Given the description of an element on the screen output the (x, y) to click on. 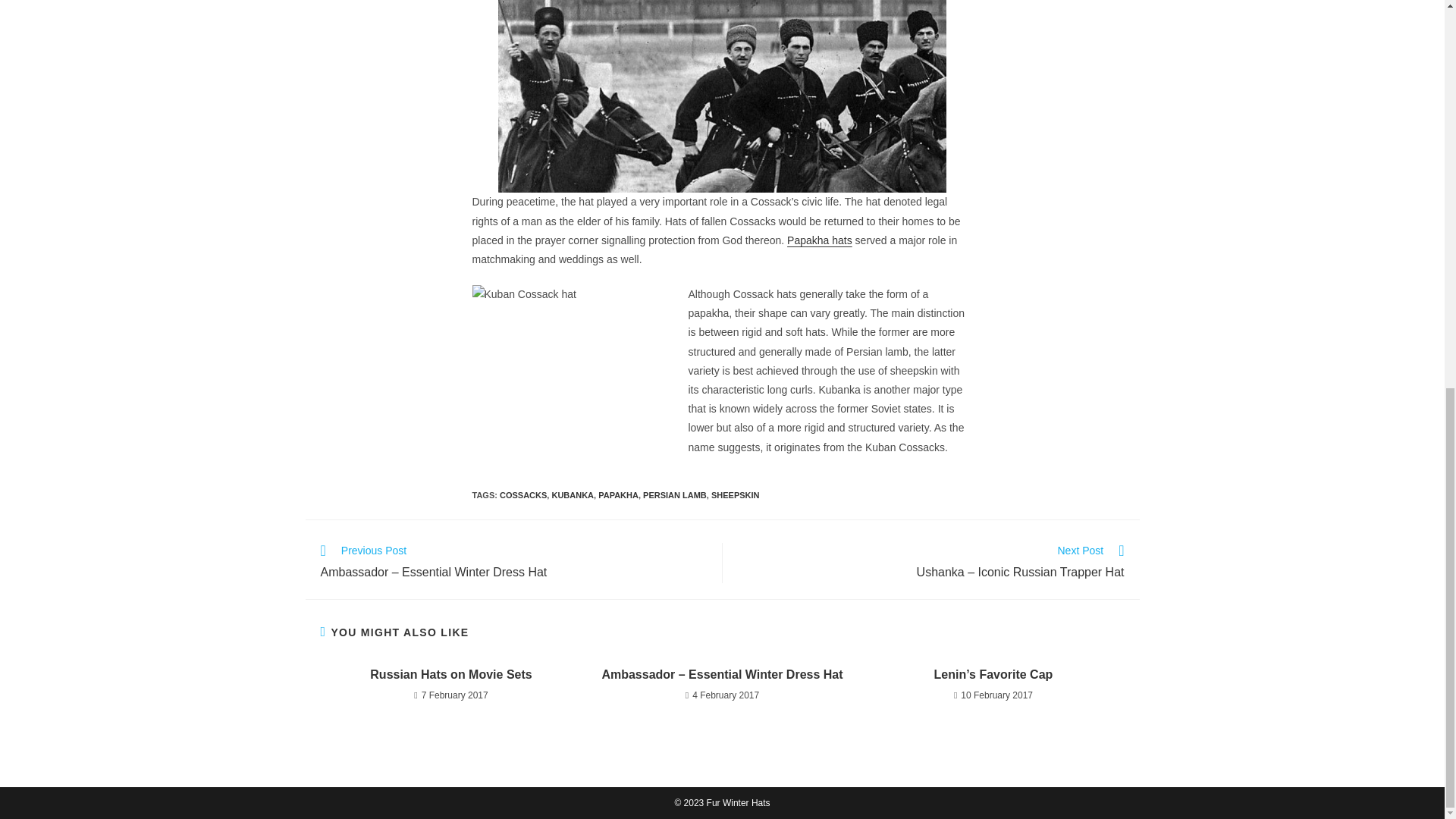
KUBANKA (572, 494)
Papakha hats (819, 240)
PERSIAN LAMB (674, 494)
PAPAKHA (618, 494)
SHEEPSKIN (735, 494)
Russian Hats on Movie Sets (450, 674)
COSSACKS (523, 494)
